Given the description of an element on the screen output the (x, y) to click on. 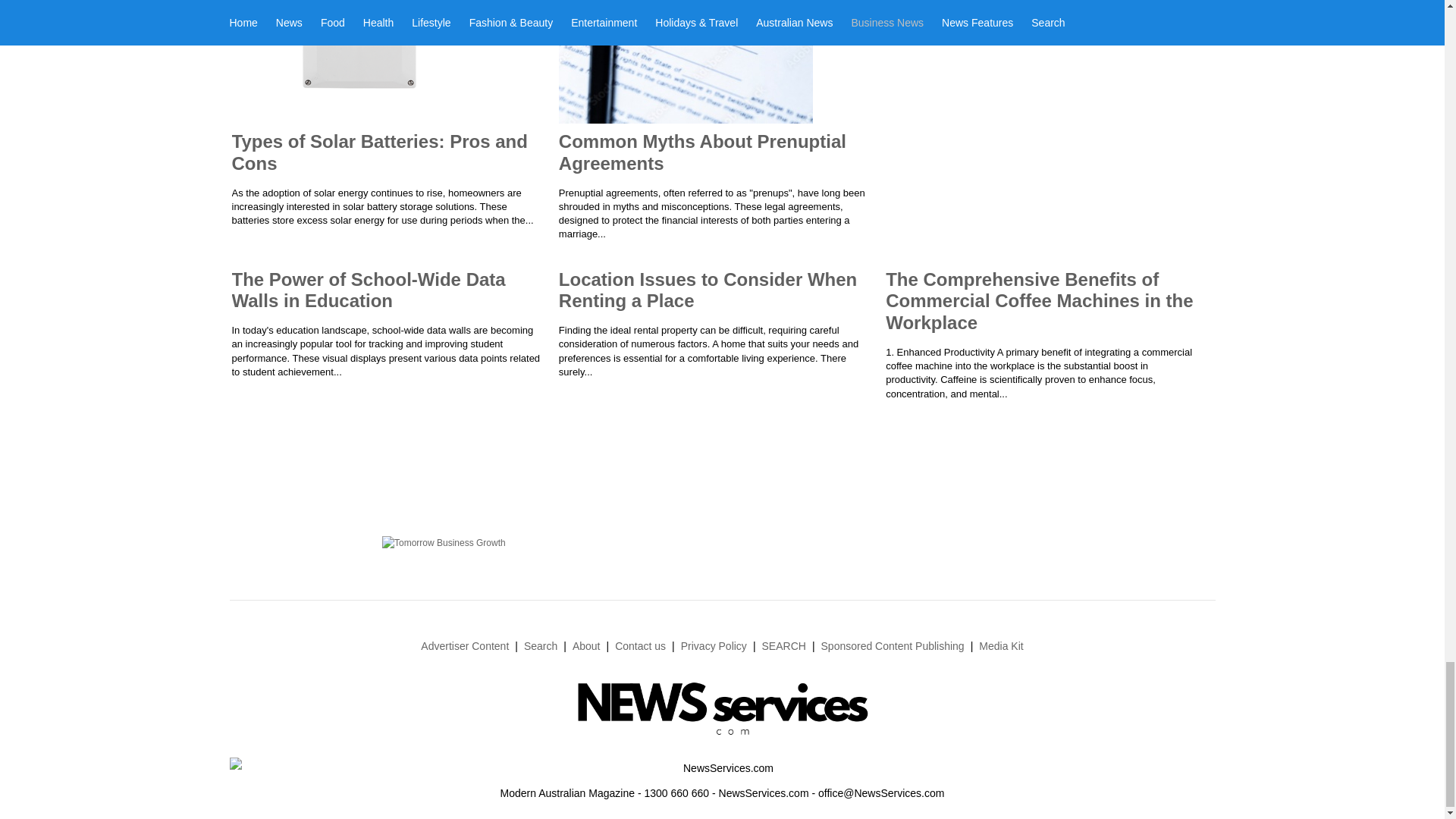
The Power of School-Wide Data Walls in Education (368, 290)
Location Issues to Consider When Renting a Place (708, 290)
Types of Solar Batteries: Pros and Cons (379, 152)
Location Issues to Consider When Renting a Place (708, 290)
Common Myths About Prenuptial Agreements (702, 152)
Types of Solar Batteries: Pros and Cons (379, 152)
Common Myths About Prenuptial Agreements (702, 152)
The Power of School-Wide Data Walls in Education (368, 290)
